Given the description of an element on the screen output the (x, y) to click on. 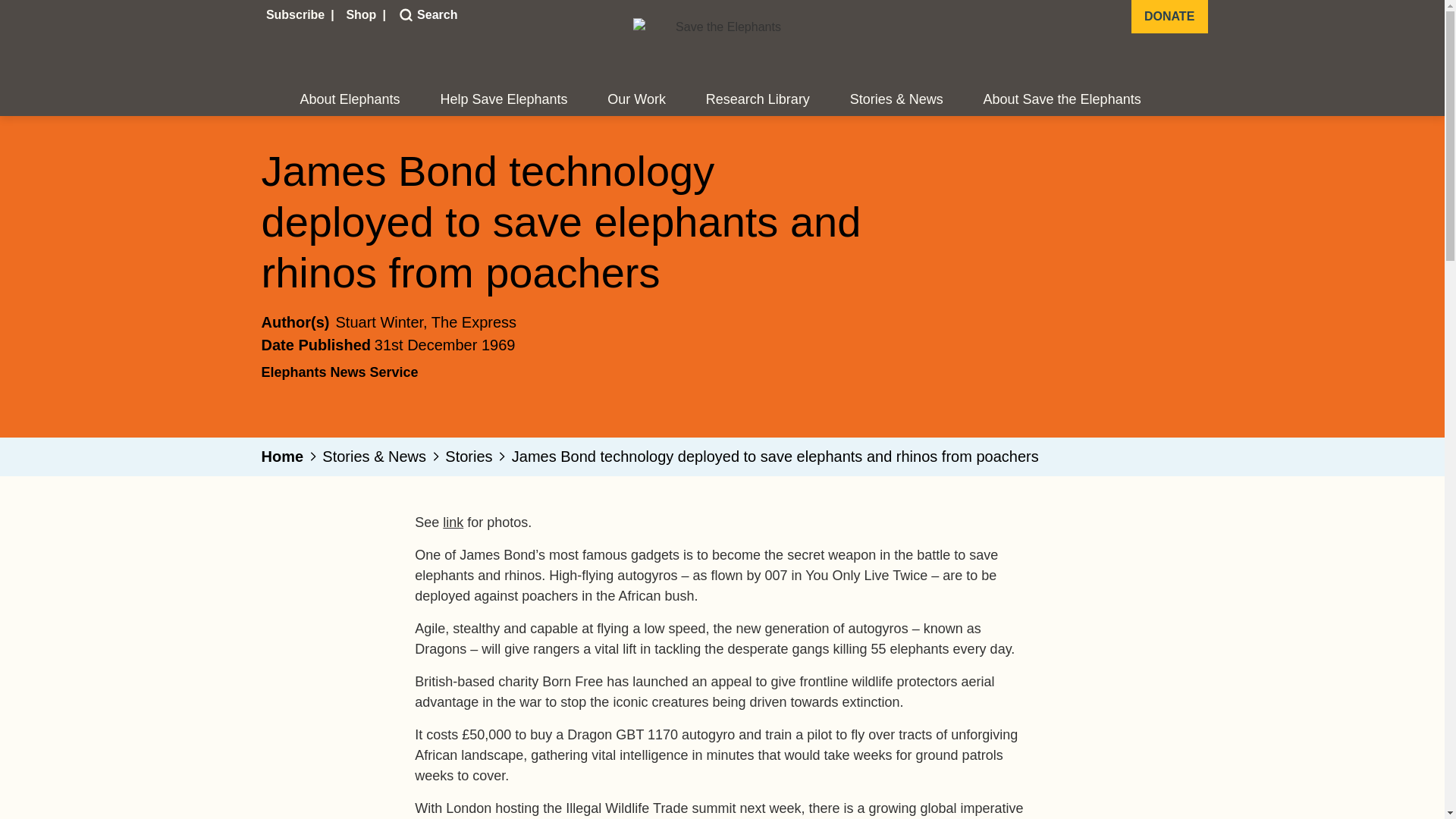
Research Library (757, 99)
Save the Elephants (720, 47)
About Save the Elephants (1062, 99)
Our Work (636, 99)
Shop (362, 15)
Help Save Elephants (503, 99)
Subscribe (297, 15)
DONATE (1169, 16)
About Elephants (349, 99)
Search submit (403, 15)
